Given the description of an element on the screen output the (x, y) to click on. 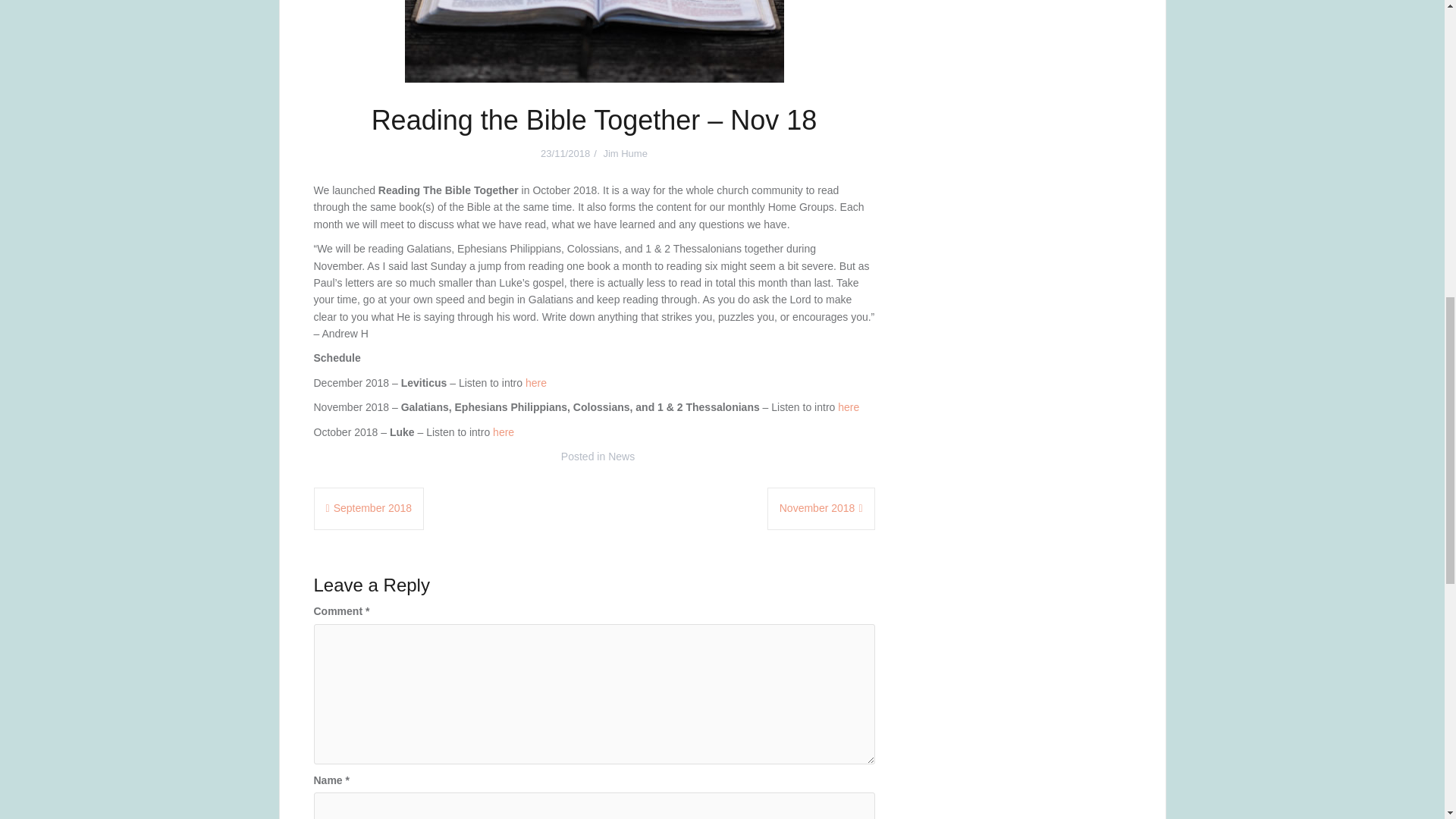
Jim Hume (624, 153)
here (536, 382)
here (848, 407)
here (503, 431)
News (621, 456)
September 2018 (369, 508)
November 2018 (820, 508)
